Given the description of an element on the screen output the (x, y) to click on. 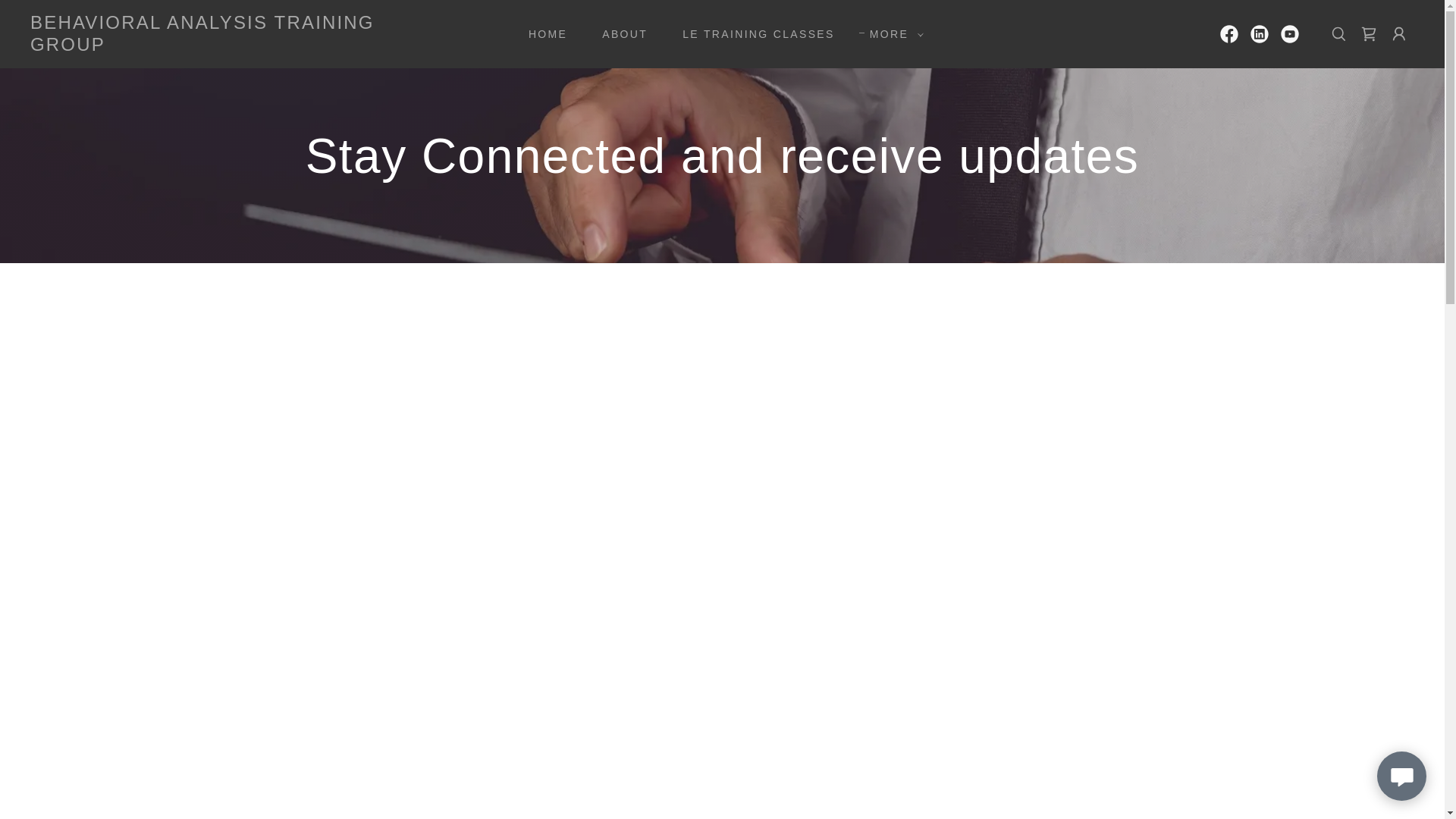
MORE (892, 34)
LE TRAINING CLASSES (753, 33)
ABOUT (619, 33)
BEHAVIORAL ANALYSIS TRAINING GROUP (226, 46)
HOME (542, 33)
Behavioral Analysis training Group  (226, 46)
